Given the description of an element on the screen output the (x, y) to click on. 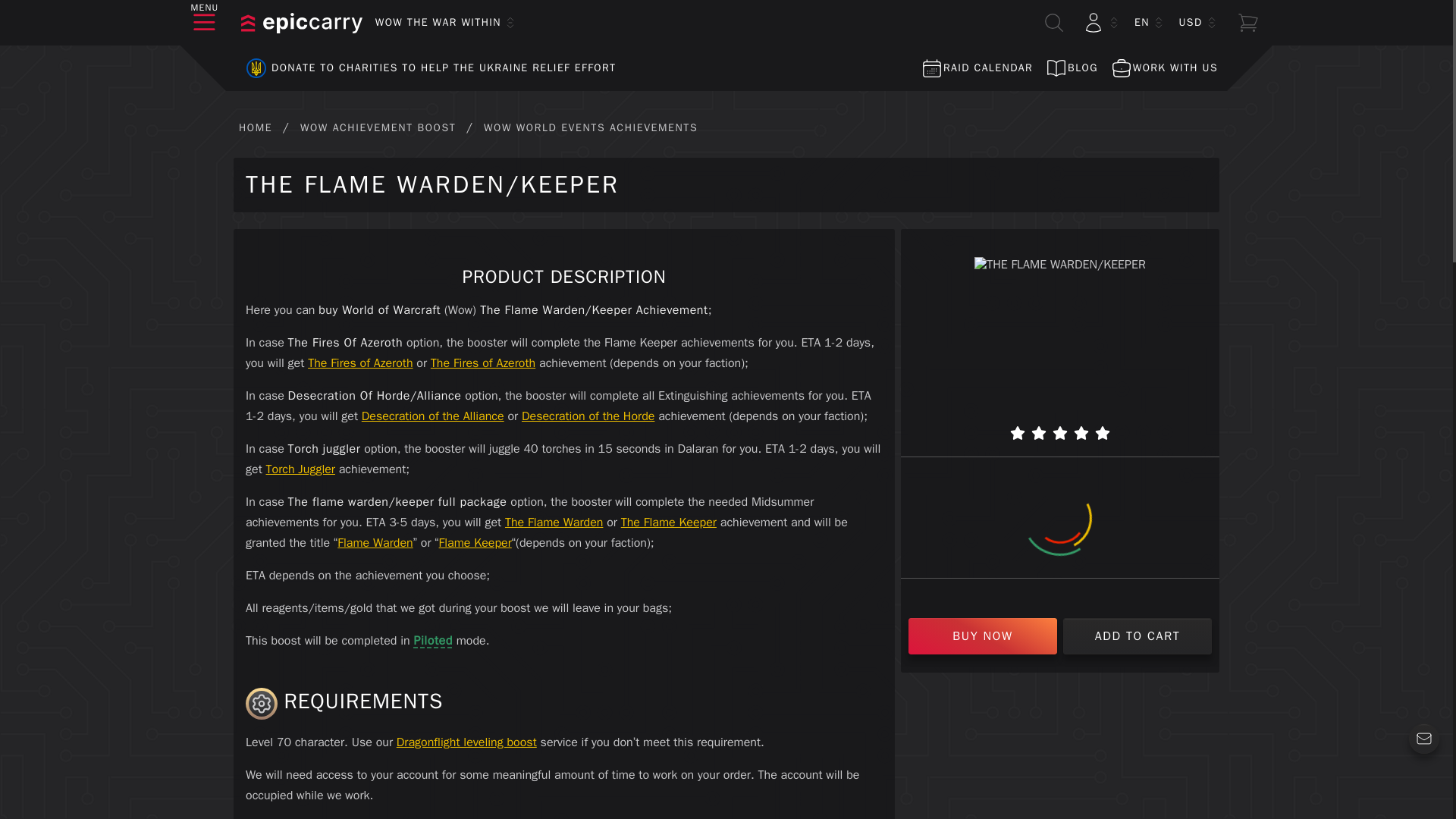
BLOG (1071, 67)
The Fires of Azeroth (359, 363)
The Flame Warden (553, 522)
WORK WITH US (1163, 67)
Desecration of the Horde (587, 416)
MENU (204, 22)
Torch Juggler (300, 468)
DONATE TO CHARITIES TO HELP THE UKRAINE RELIEF EFFORT (424, 67)
The Fires of Azeroth (482, 363)
HOME (255, 127)
